Given the description of an element on the screen output the (x, y) to click on. 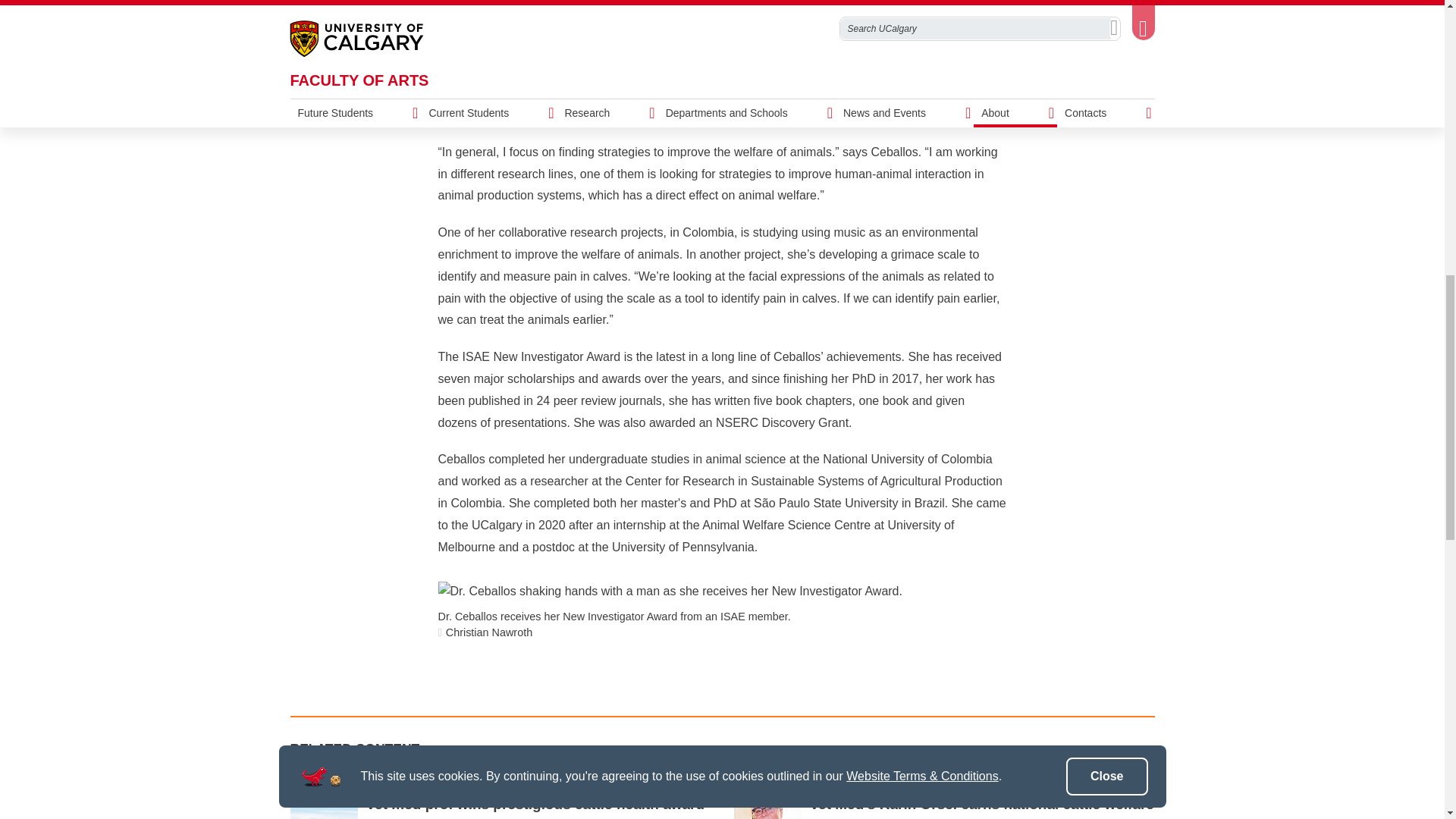
Vet med prof wins prestigious cattle health award (323, 798)
